Given the description of an element on the screen output the (x, y) to click on. 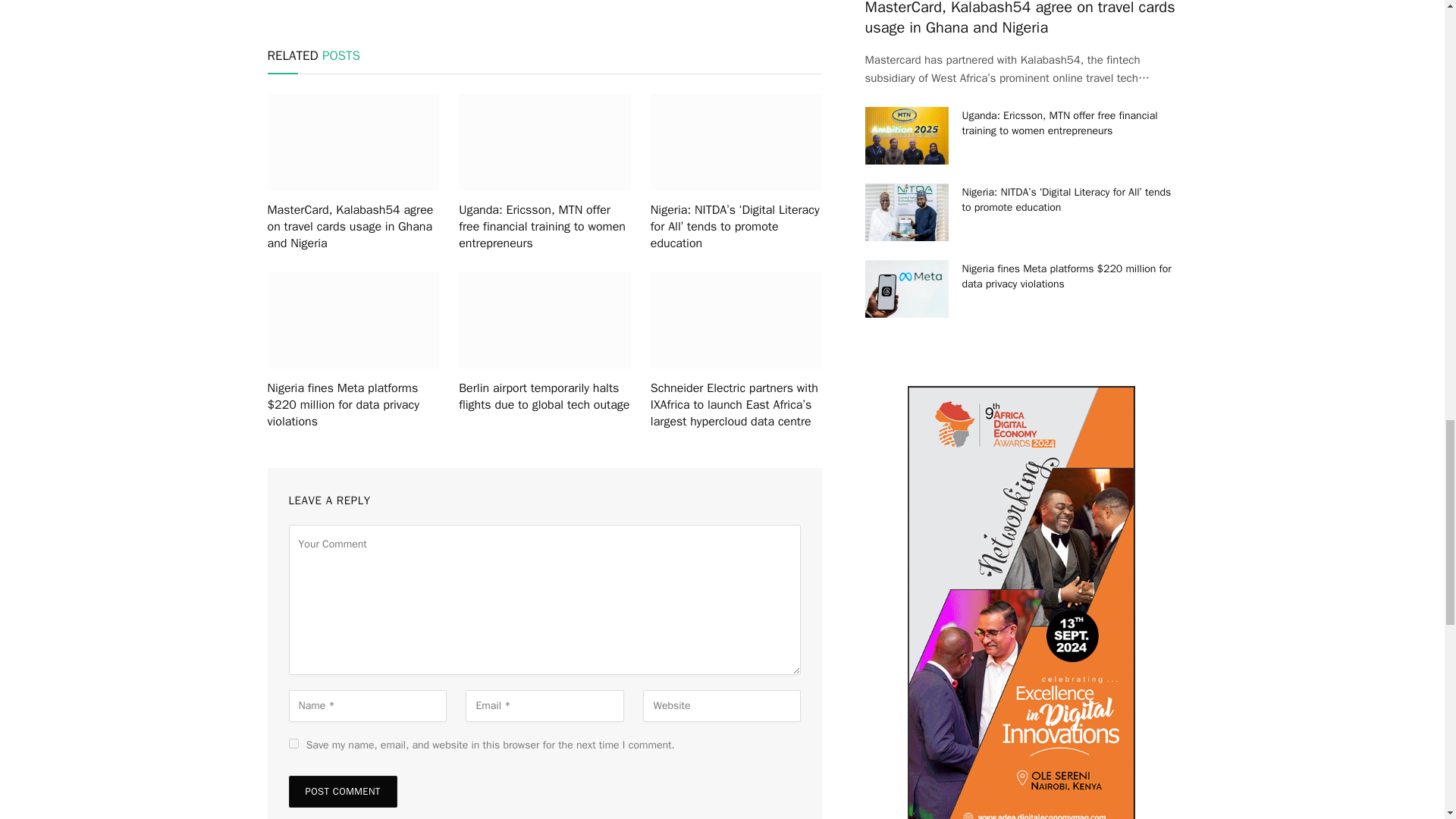
Post Comment (342, 791)
yes (293, 743)
